Given the description of an element on the screen output the (x, y) to click on. 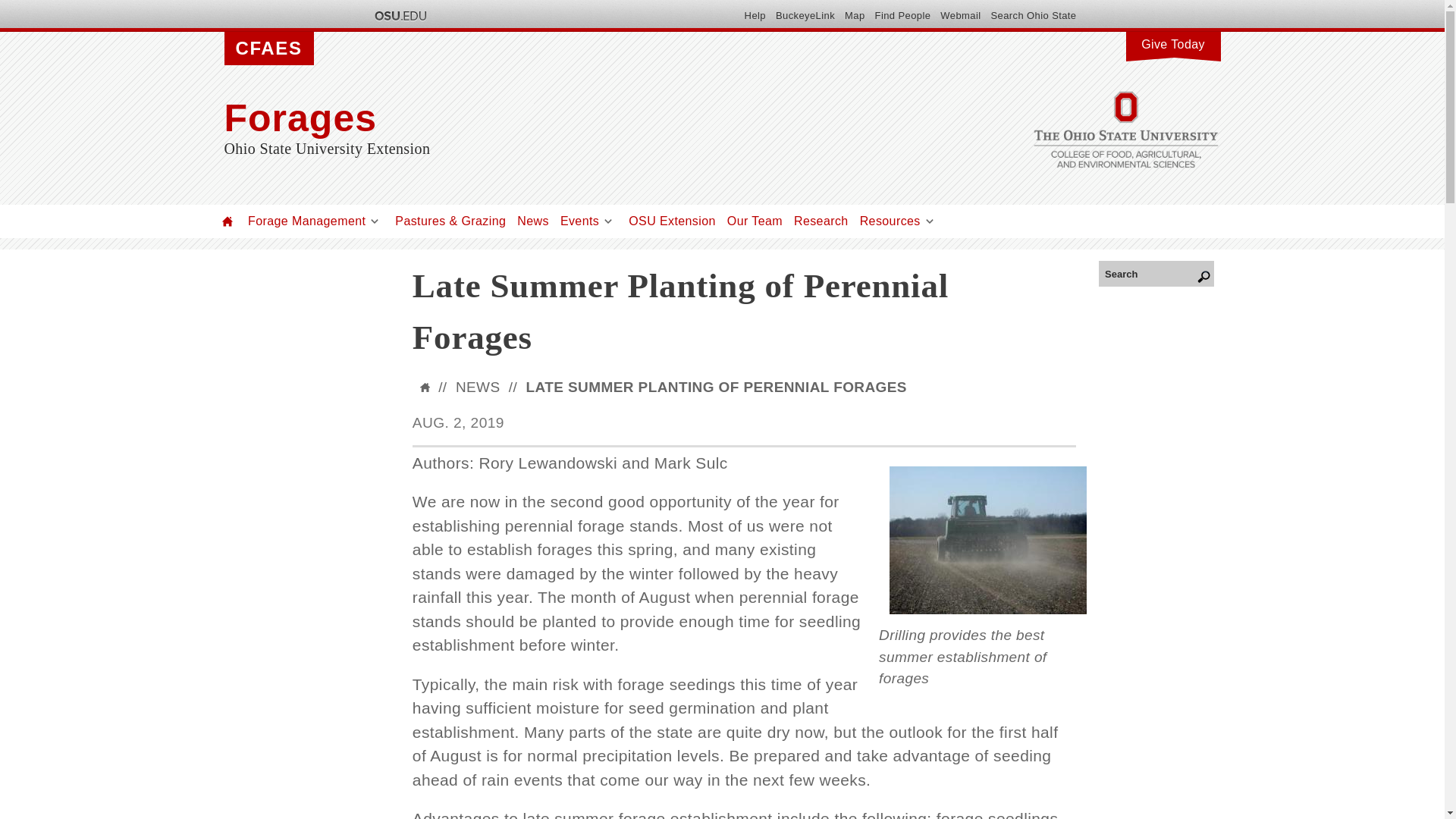
Drilling provides the best summer establishment of forages (987, 540)
Home (226, 221)
Map (854, 15)
Skip to main content (686, 1)
Home (572, 118)
Search Ohio State (1032, 15)
Search (1155, 273)
Webmail (959, 15)
Events (579, 221)
The Ohio State University (399, 15)
News (532, 221)
Enter the terms you wish to search for. (1155, 273)
CFAES (269, 48)
Research (820, 221)
Our Team (754, 221)
